Given the description of an element on the screen output the (x, y) to click on. 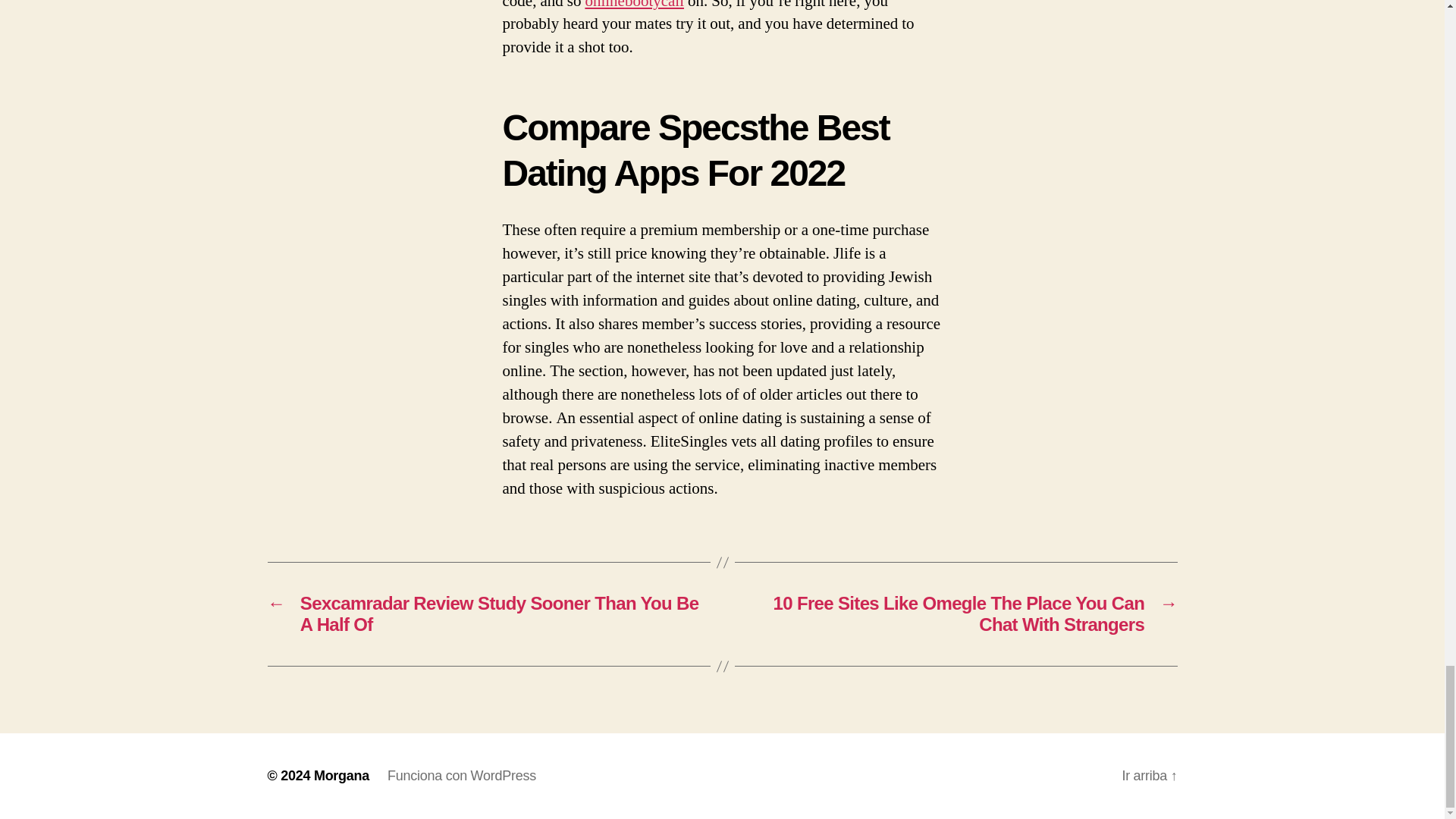
onlinebootycall (634, 5)
Funciona con WordPress (461, 775)
Morgana (341, 775)
